Given the description of an element on the screen output the (x, y) to click on. 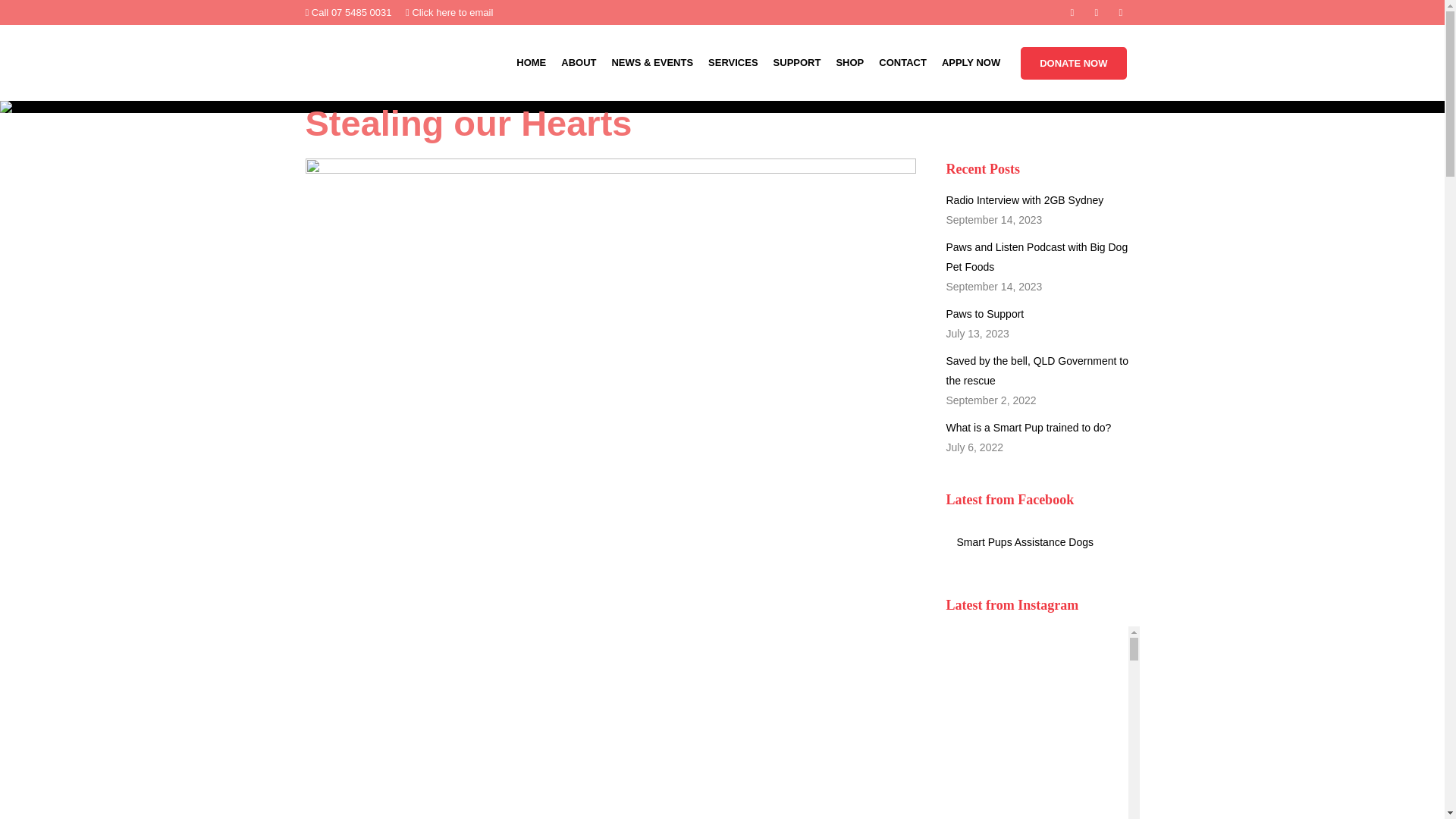
DONATE NOW (1072, 62)
Click here (433, 12)
07 5485 0031 (361, 12)
APPLY NOW (970, 62)
